Given the description of an element on the screen output the (x, y) to click on. 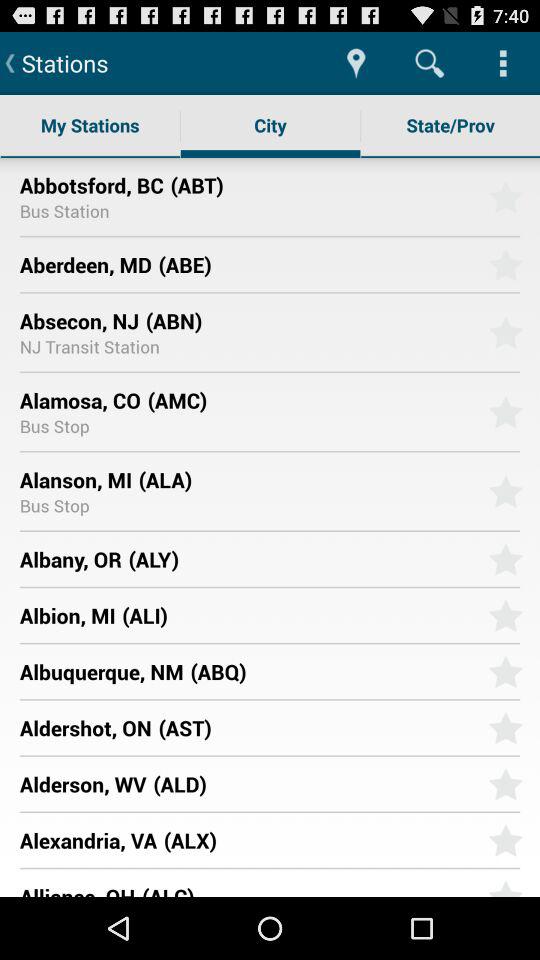
flip to (abt) item (322, 184)
